Given the description of an element on the screen output the (x, y) to click on. 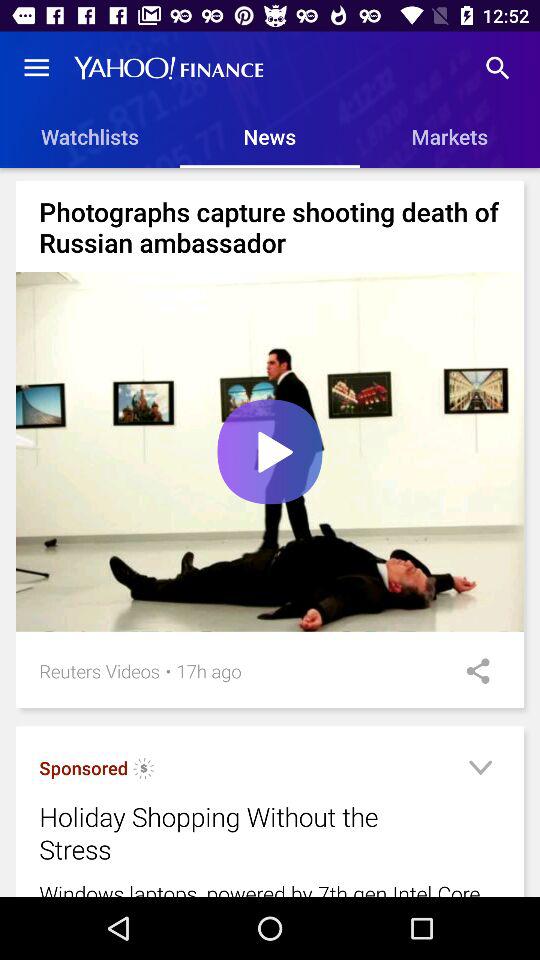
flip until the 17h ago (208, 670)
